Given the description of an element on the screen output the (x, y) to click on. 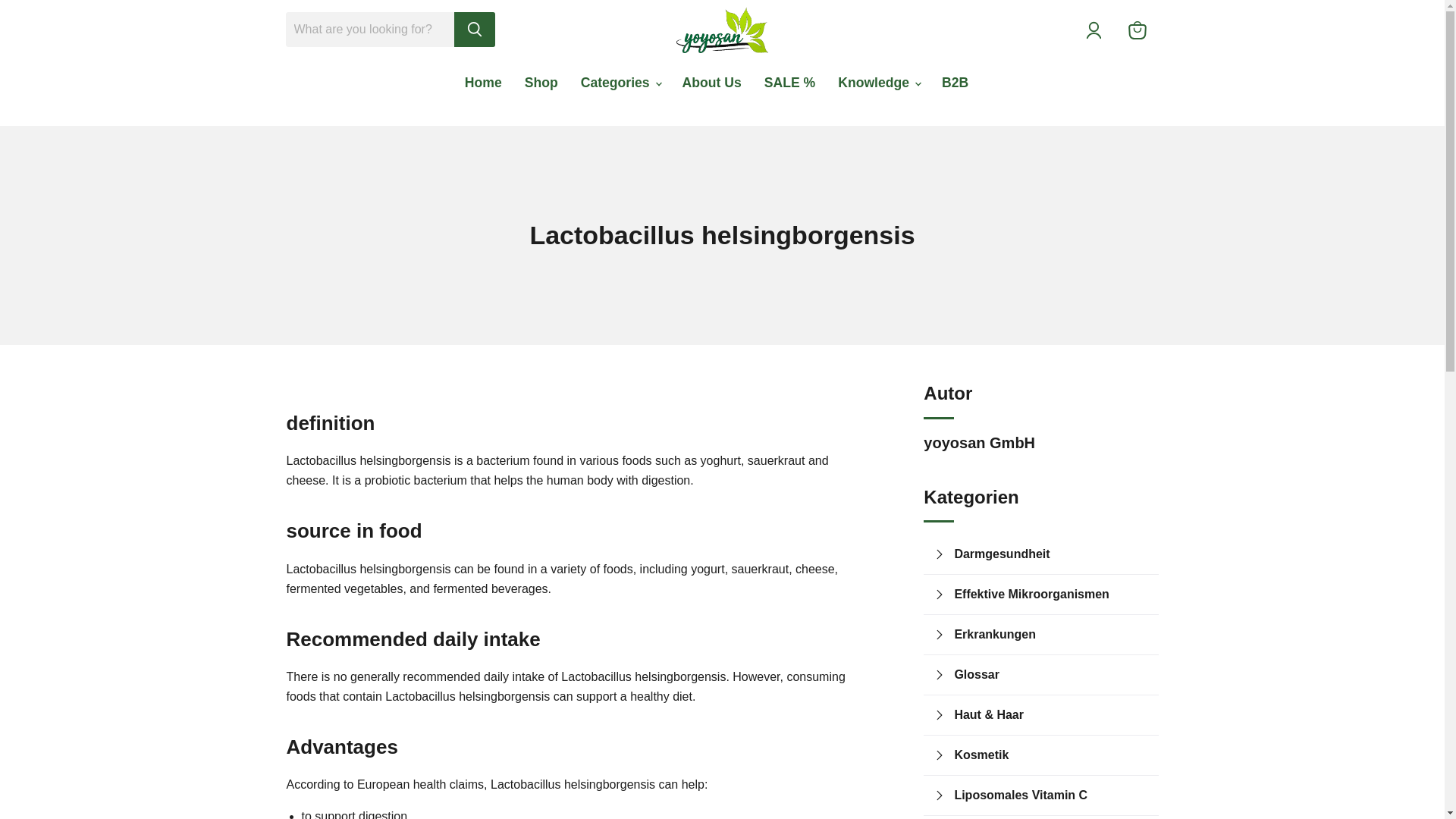
Show articles tagged Liposomales Vitamin C (1050, 794)
Home (482, 82)
Show articles tagged Effektive Mikroorganismen (1050, 594)
View cart (1137, 29)
B2B (954, 82)
About Us (711, 82)
Show articles tagged glossar (1050, 674)
Shop (541, 82)
Show articles tagged Erkrankungen (1050, 634)
Show articles tagged darmgesundheit (1050, 554)
Show articles tagged Kosmetik (1050, 754)
